Given the description of an element on the screen output the (x, y) to click on. 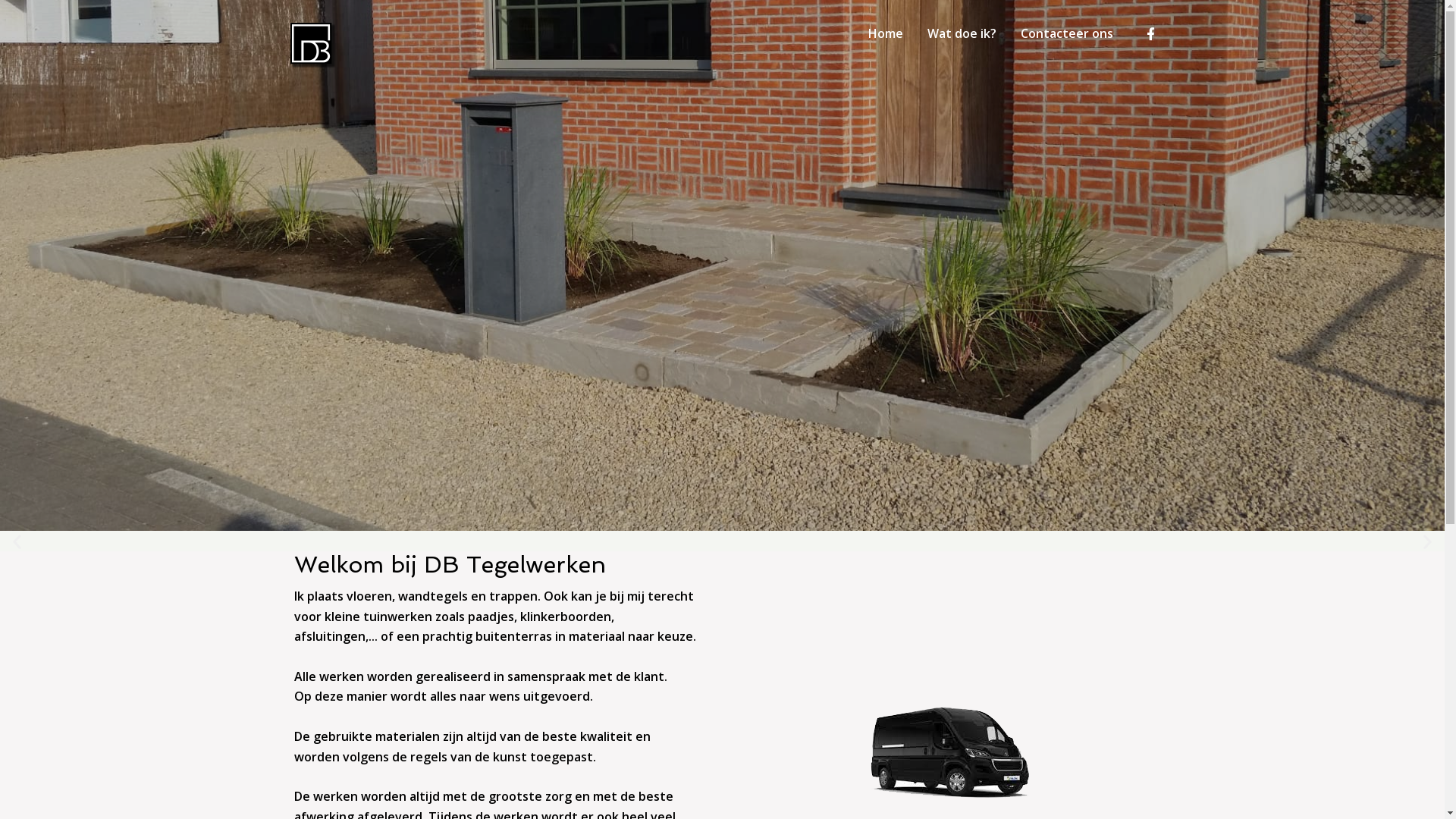
Home Element type: text (884, 33)
Contacteer ons Element type: text (1066, 33)
Wat doe ik? Element type: text (960, 33)
